Given the description of an element on the screen output the (x, y) to click on. 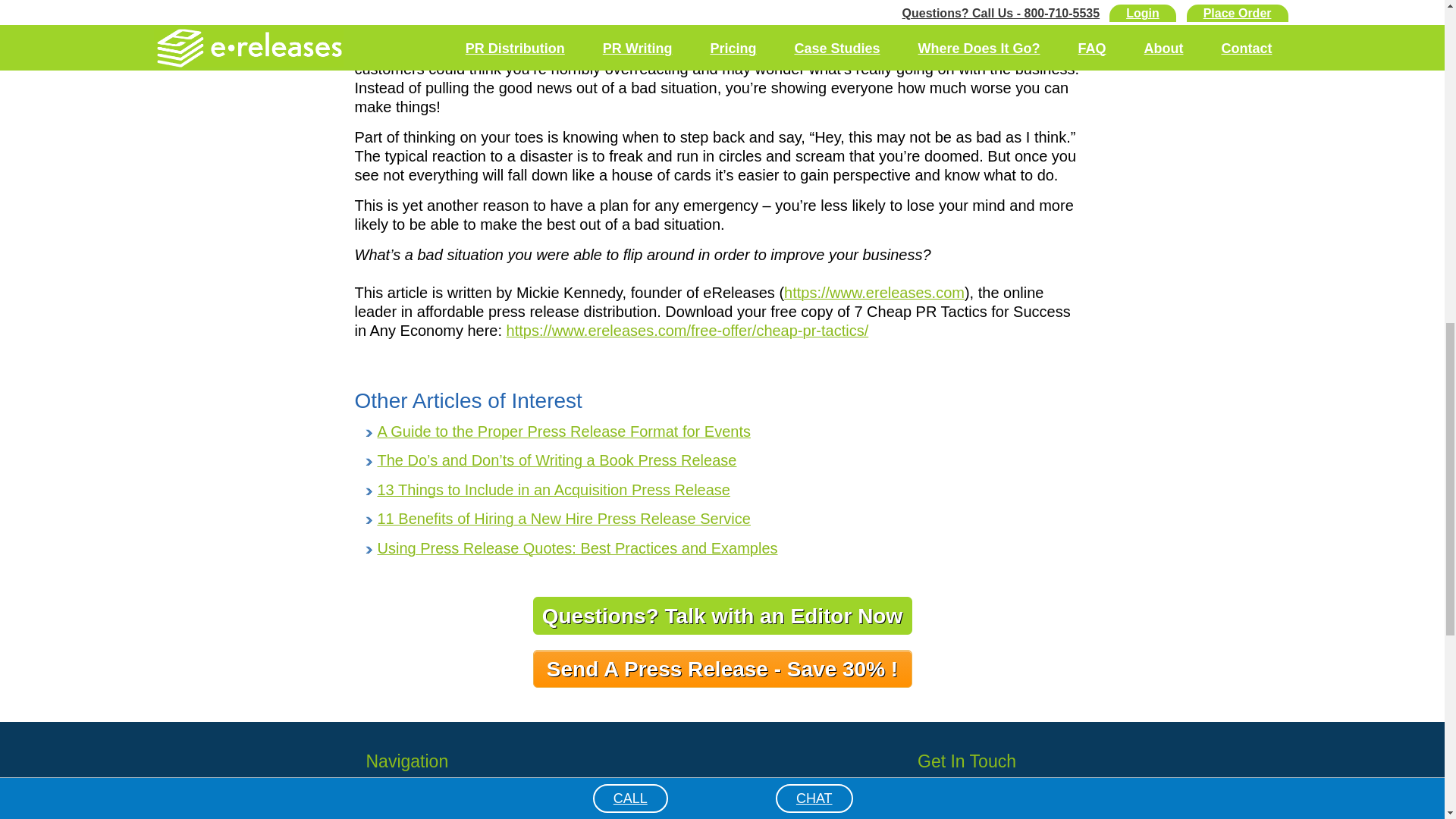
Home (491, 801)
A Guide to the Proper Press Release Format for Events (564, 431)
Questions? Talk with an Editor Now (721, 615)
13 Things to Include in an Acquisition Press Release (553, 489)
Case Studies (491, 817)
11 Benefits of Hiring a New Hire Press Release Service (564, 518)
Using Press Release Quotes: Best Practices and Examples (577, 547)
